Given the description of an element on the screen output the (x, y) to click on. 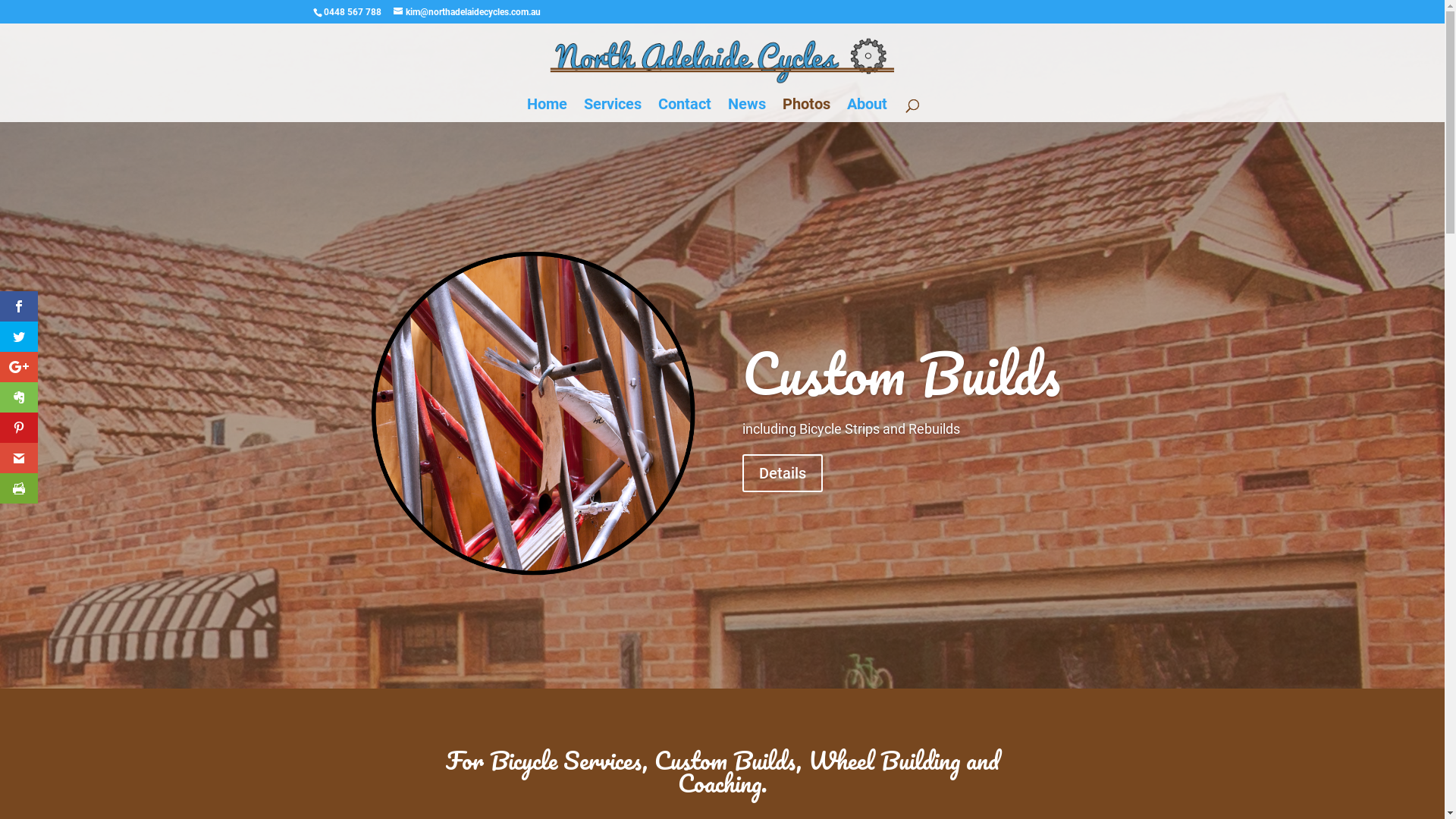
Custom Builds Element type: text (901, 372)
Contact Element type: text (684, 110)
Home Element type: text (547, 110)
News Element type: text (746, 110)
kim@northadelaidecycles.com.au Element type: text (465, 11)
Details Element type: text (782, 473)
Services Element type: text (612, 110)
Photos Element type: text (806, 110)
About Element type: text (867, 110)
